Given the description of an element on the screen output the (x, y) to click on. 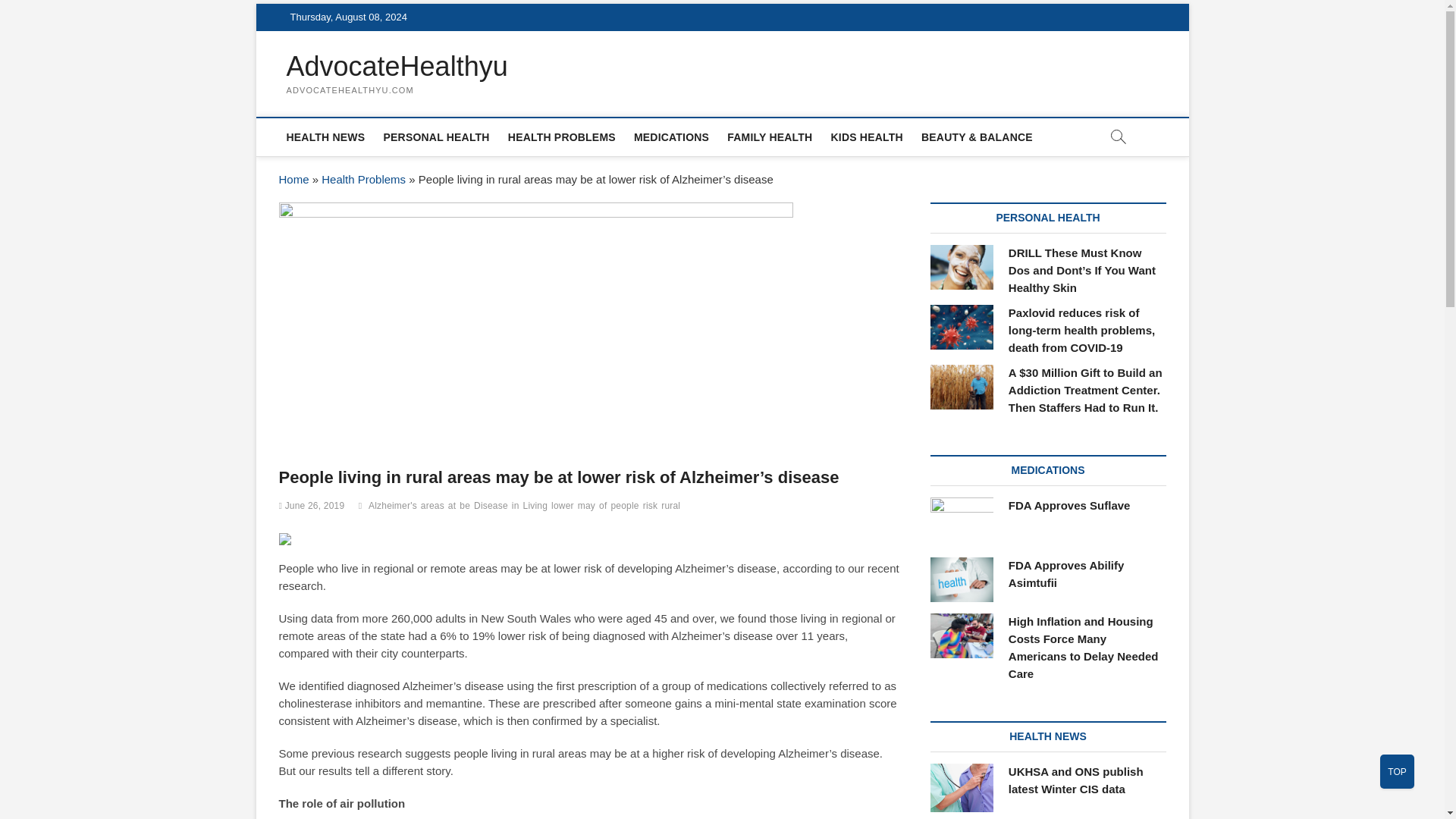
people (627, 507)
FDA Approves Suflave (1070, 504)
lower (564, 507)
HEALTH NEWS (325, 136)
Disease (493, 507)
FDA Approves Abilify Asimtufii (961, 579)
Home (293, 178)
Health Problems (363, 178)
AdvocateHealthyu (397, 66)
